Given the description of an element on the screen output the (x, y) to click on. 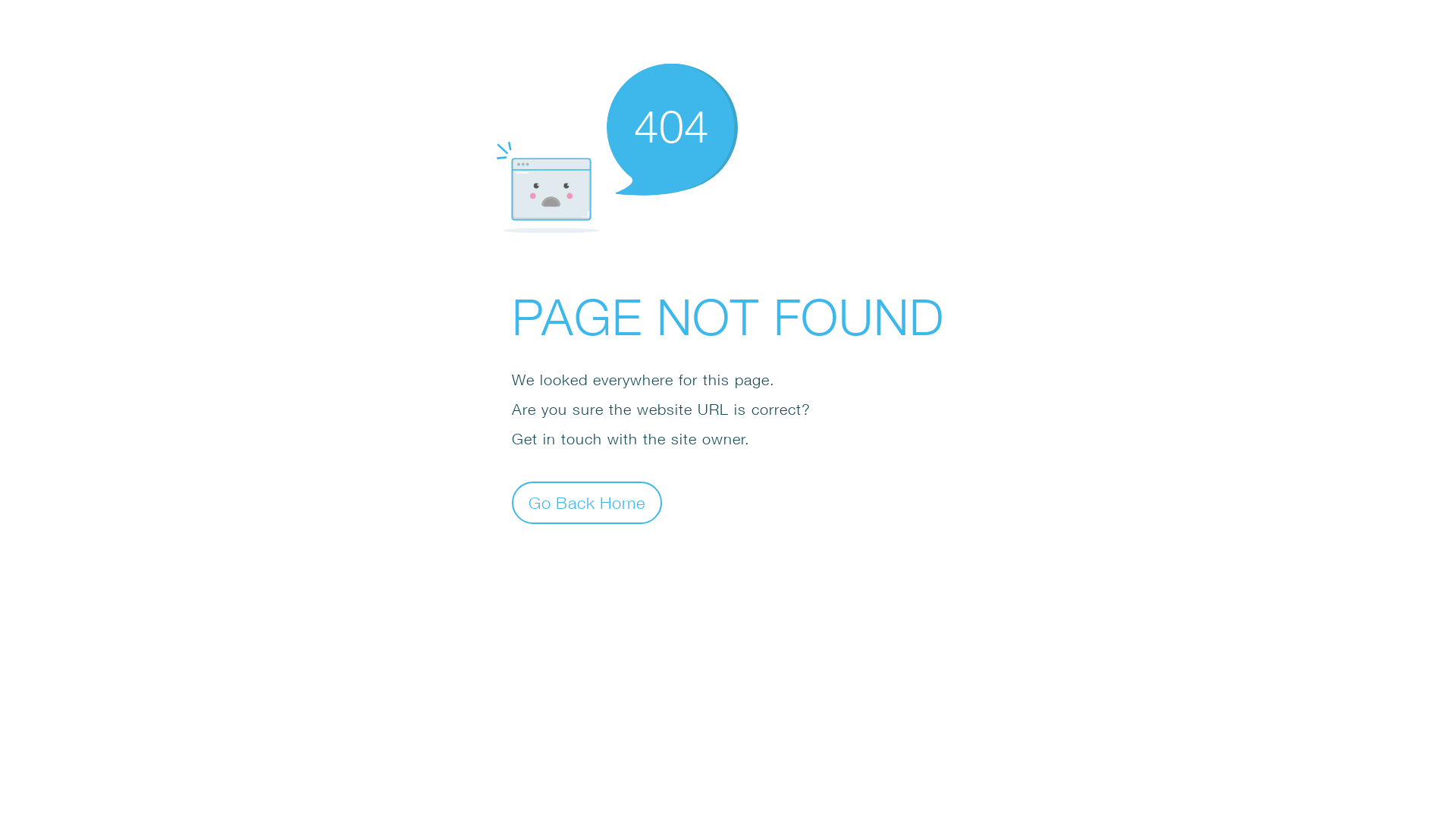
Go Back Home Element type: text (586, 502)
